Given the description of an element on the screen output the (x, y) to click on. 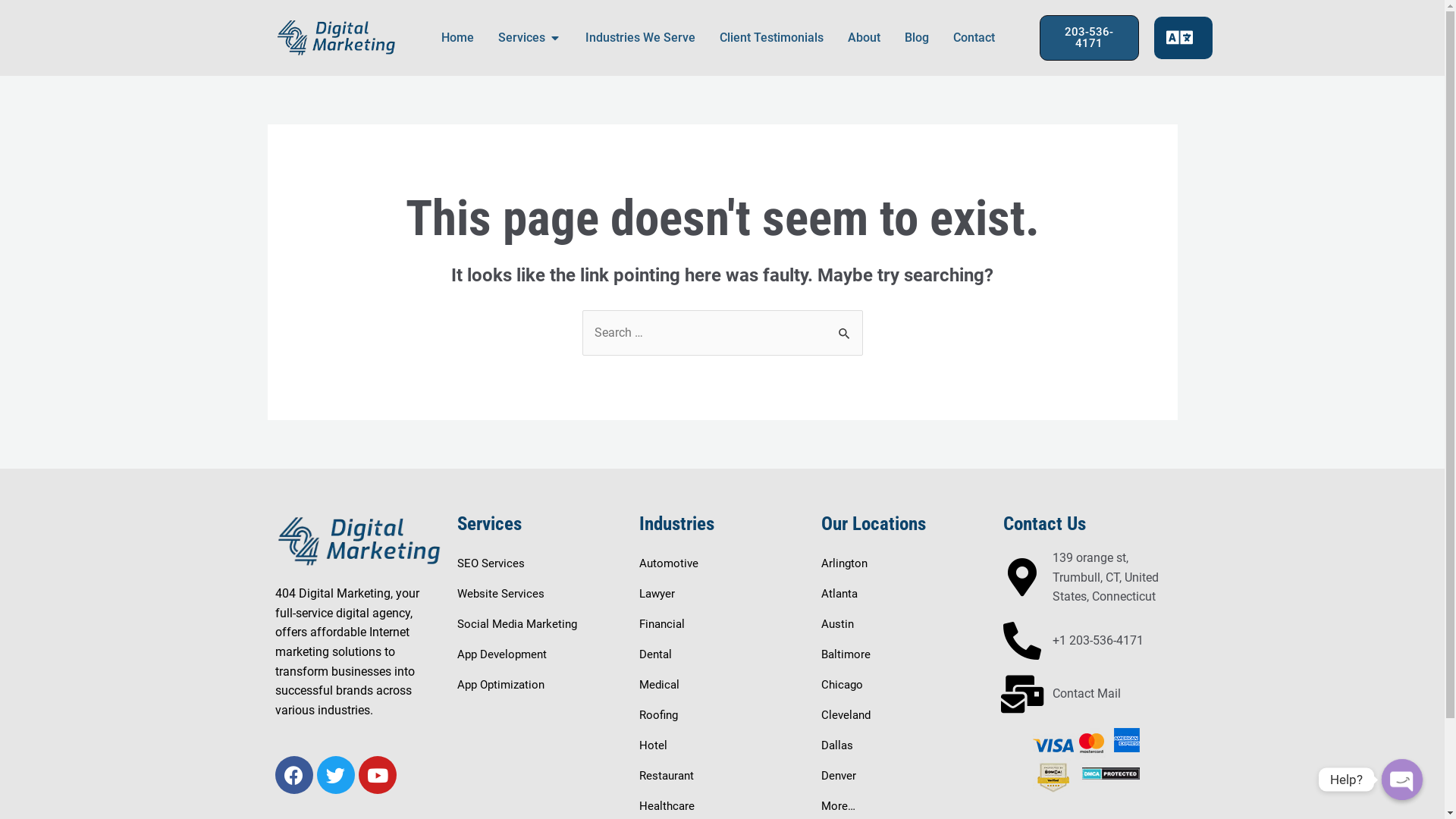
Facebook Element type: text (293, 774)
SEO Services Element type: text (490, 563)
Blog Element type: text (915, 37)
Contact Element type: text (973, 37)
Industries We Serve Element type: text (640, 37)
203-536-4171 Element type: text (1088, 37)
Social Media Marketing Element type: text (516, 623)
App Development Element type: text (501, 654)
About Element type: text (863, 37)
Search Element type: text (845, 326)
Home Element type: text (457, 37)
Client Testimonials Element type: text (770, 37)
App Optimization Element type: text (499, 684)
Youtube Element type: text (376, 774)
Website Services Element type: text (499, 593)
Twitter Element type: text (335, 774)
